Given the description of an element on the screen output the (x, y) to click on. 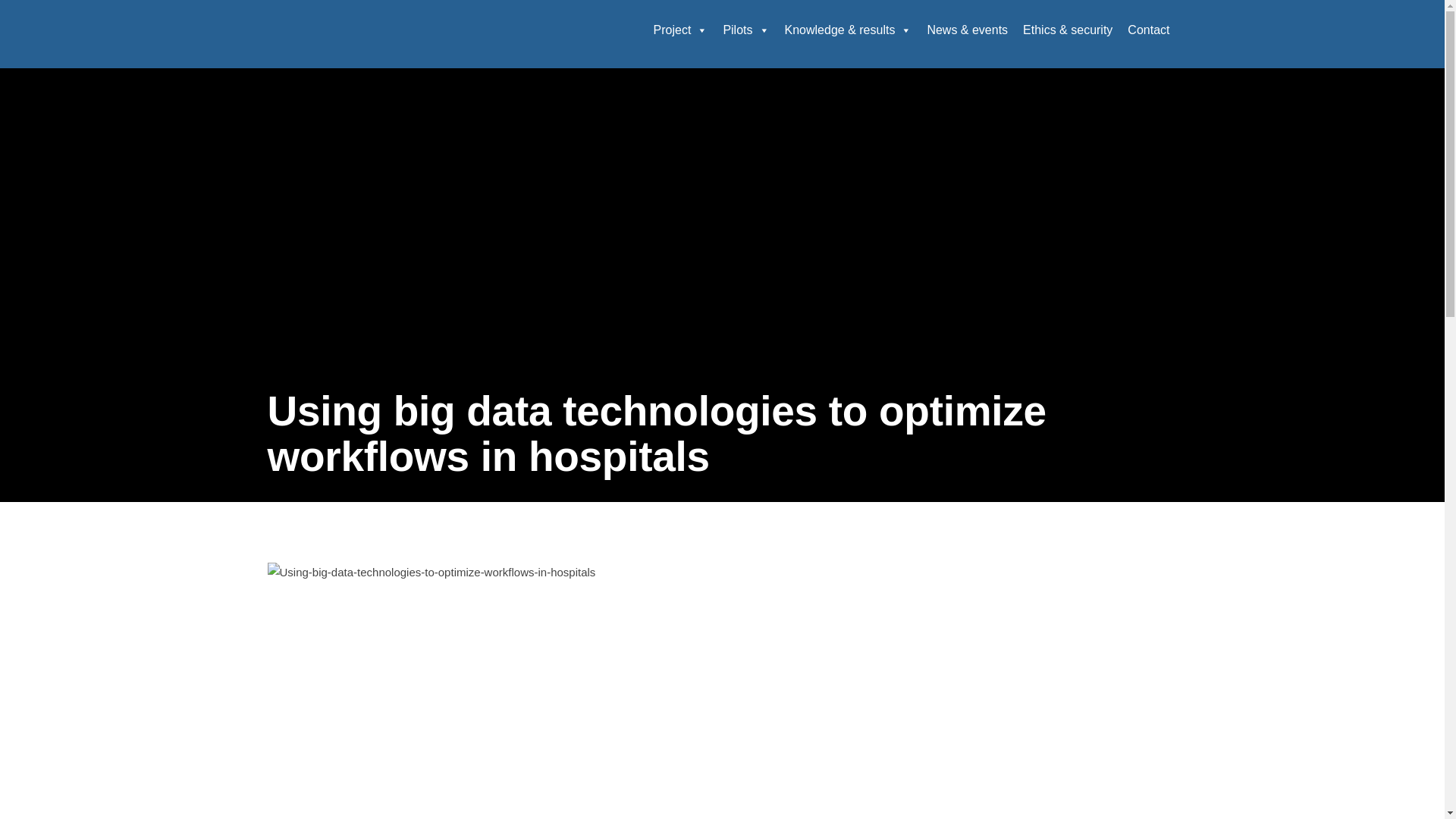
Contact (1147, 30)
Pilots (745, 30)
Project (681, 30)
